Given the description of an element on the screen output the (x, y) to click on. 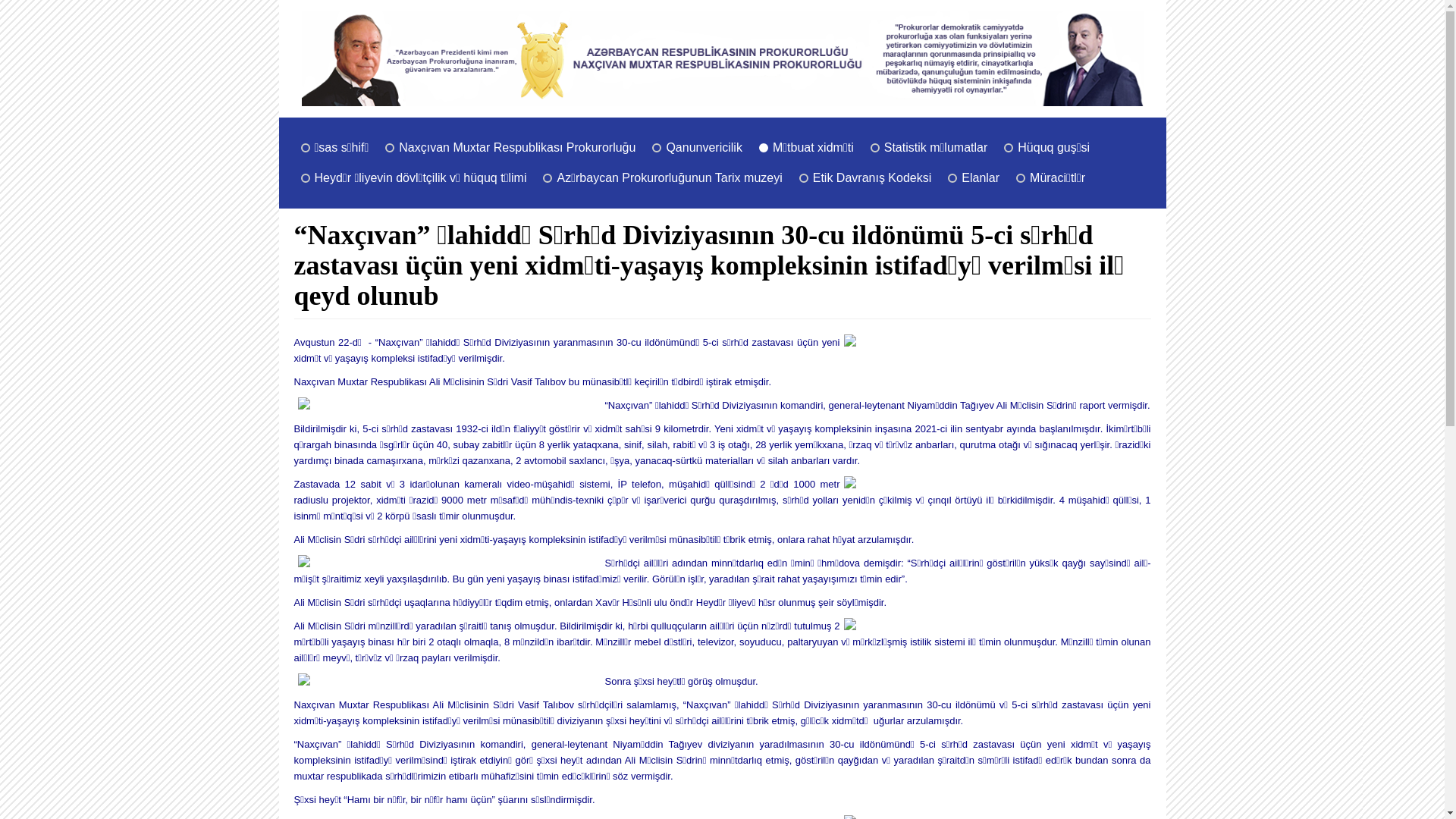
Elanlar Element type: text (980, 178)
Qanunvericilik Element type: text (703, 147)
